Given the description of an element on the screen output the (x, y) to click on. 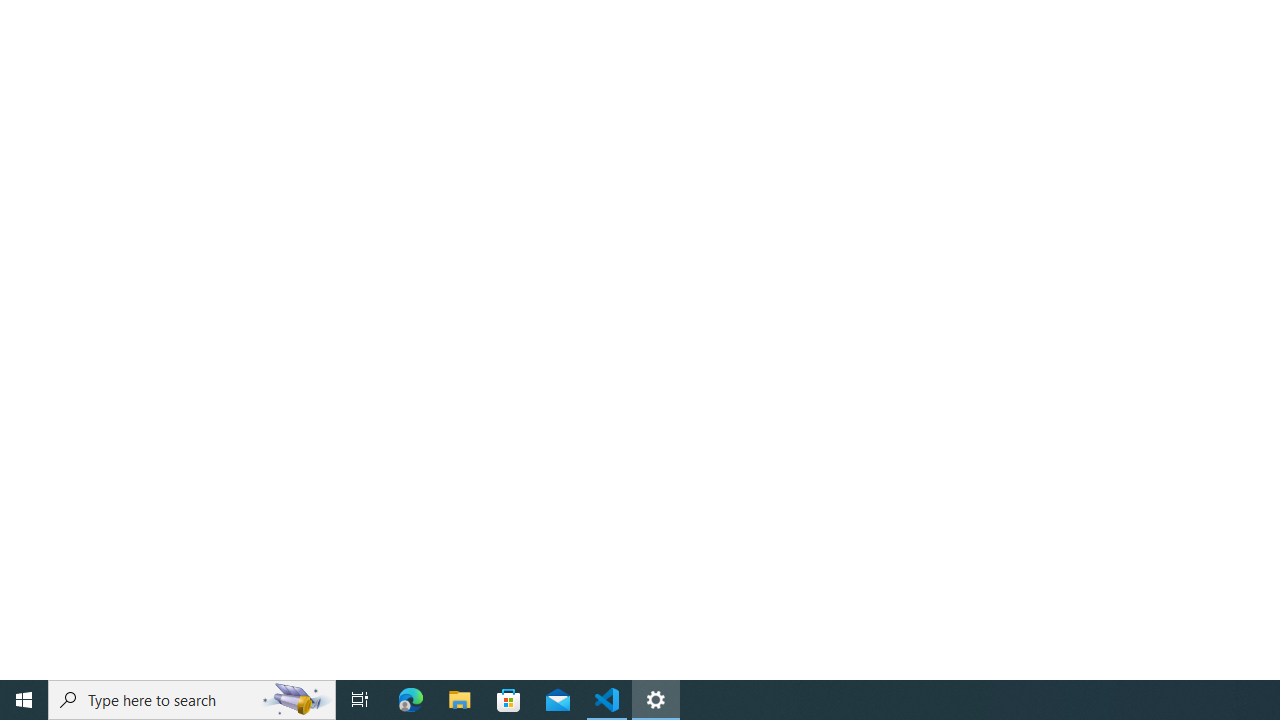
Visual Studio Code - 1 running window (607, 699)
File Explorer (460, 699)
Start (24, 699)
Type here to search (191, 699)
Microsoft Store (509, 699)
Search highlights icon opens search home window (295, 699)
Settings - 1 running window (656, 699)
Microsoft Edge (411, 699)
Task View (359, 699)
